Given the description of an element on the screen output the (x, y) to click on. 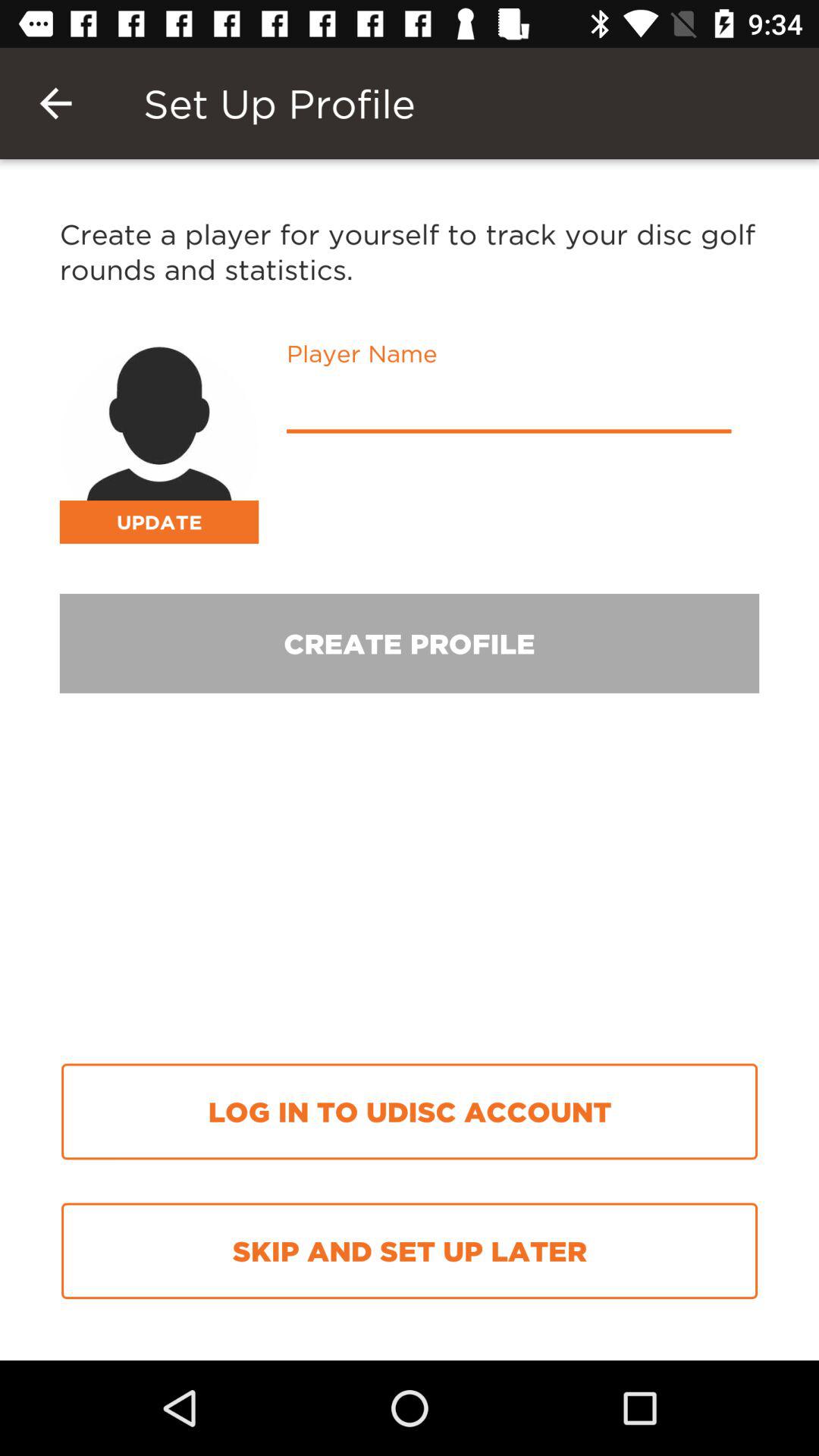
text box (508, 406)
